Given the description of an element on the screen output the (x, y) to click on. 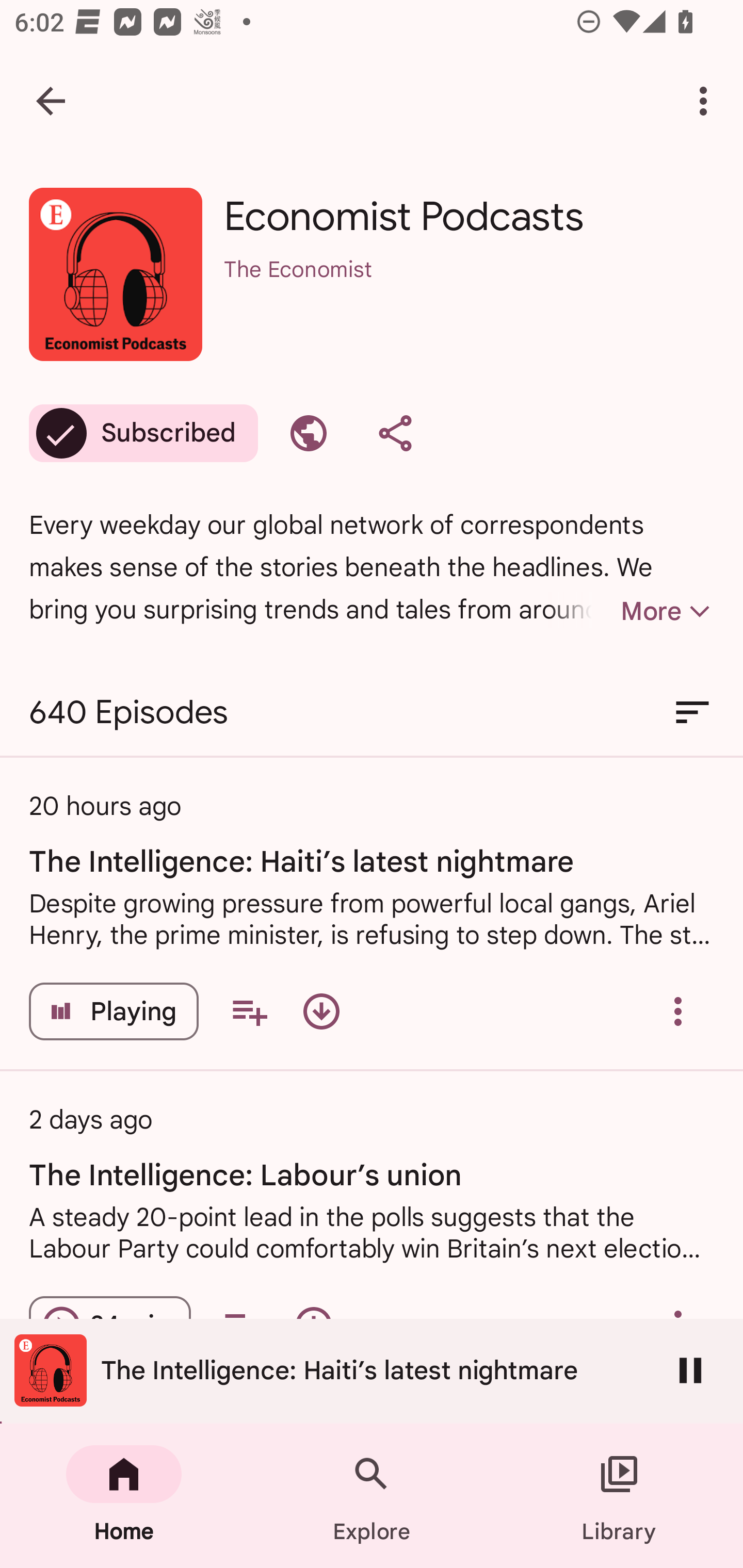
Navigate up (50, 101)
More options (706, 101)
The Economist (468, 295)
Subscribed (142, 433)
Visit website (308, 433)
Share (395, 433)
More (631, 610)
Sort (692, 712)
Add to your queue (249, 1011)
Download episode (321, 1011)
Overflow menu (677, 1011)
Pause (690, 1370)
Explore (371, 1495)
Library (619, 1495)
